Given the description of an element on the screen output the (x, y) to click on. 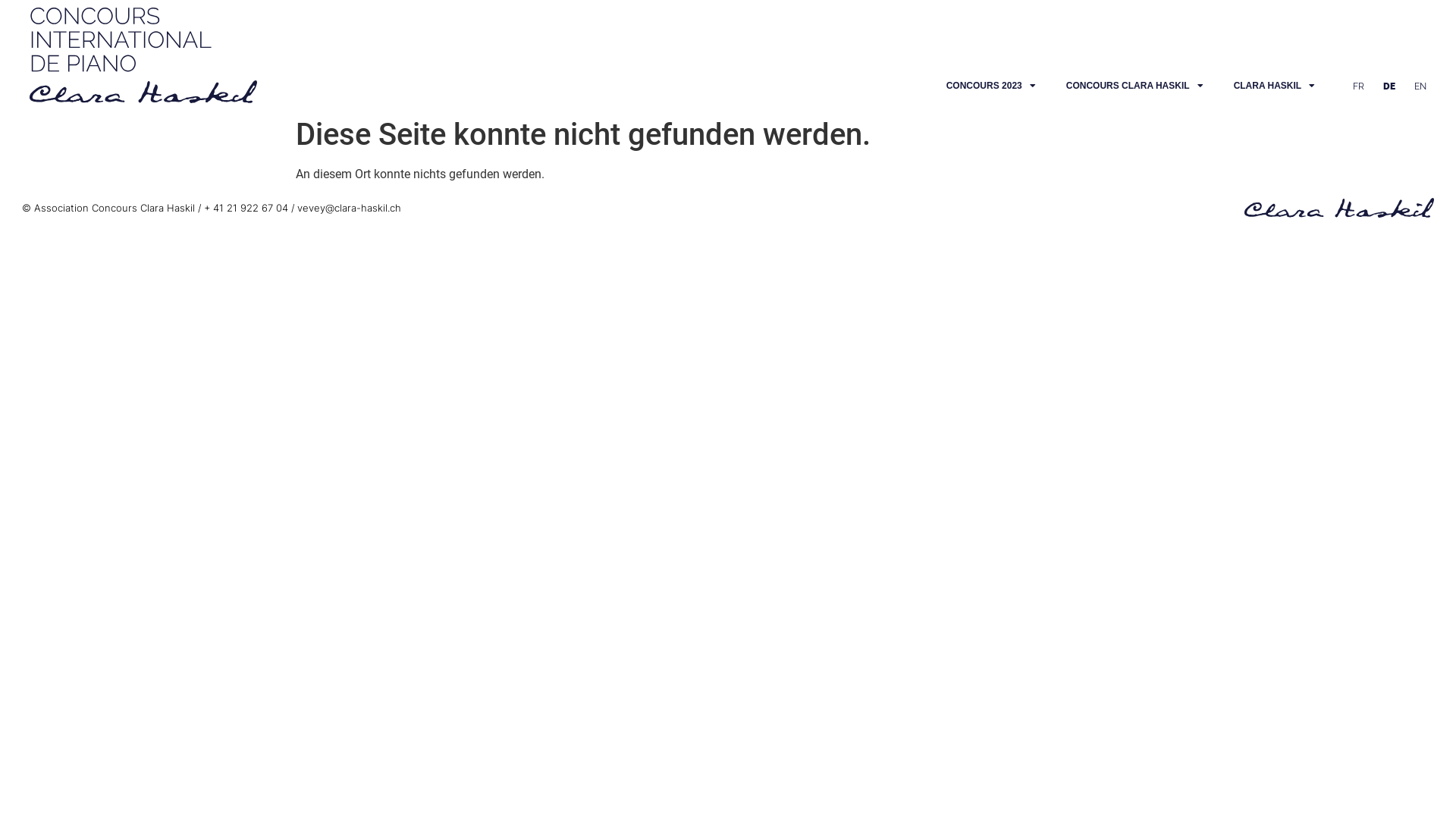
FR Element type: text (1354, 85)
CONCOURS CLARA HASKIL Element type: text (1134, 85)
DE Element type: text (1385, 85)
CONCOURS 2023 Element type: text (991, 85)
EN Element type: text (1416, 85)
CLARA HASKIL Element type: text (1274, 85)
